Given the description of an element on the screen output the (x, y) to click on. 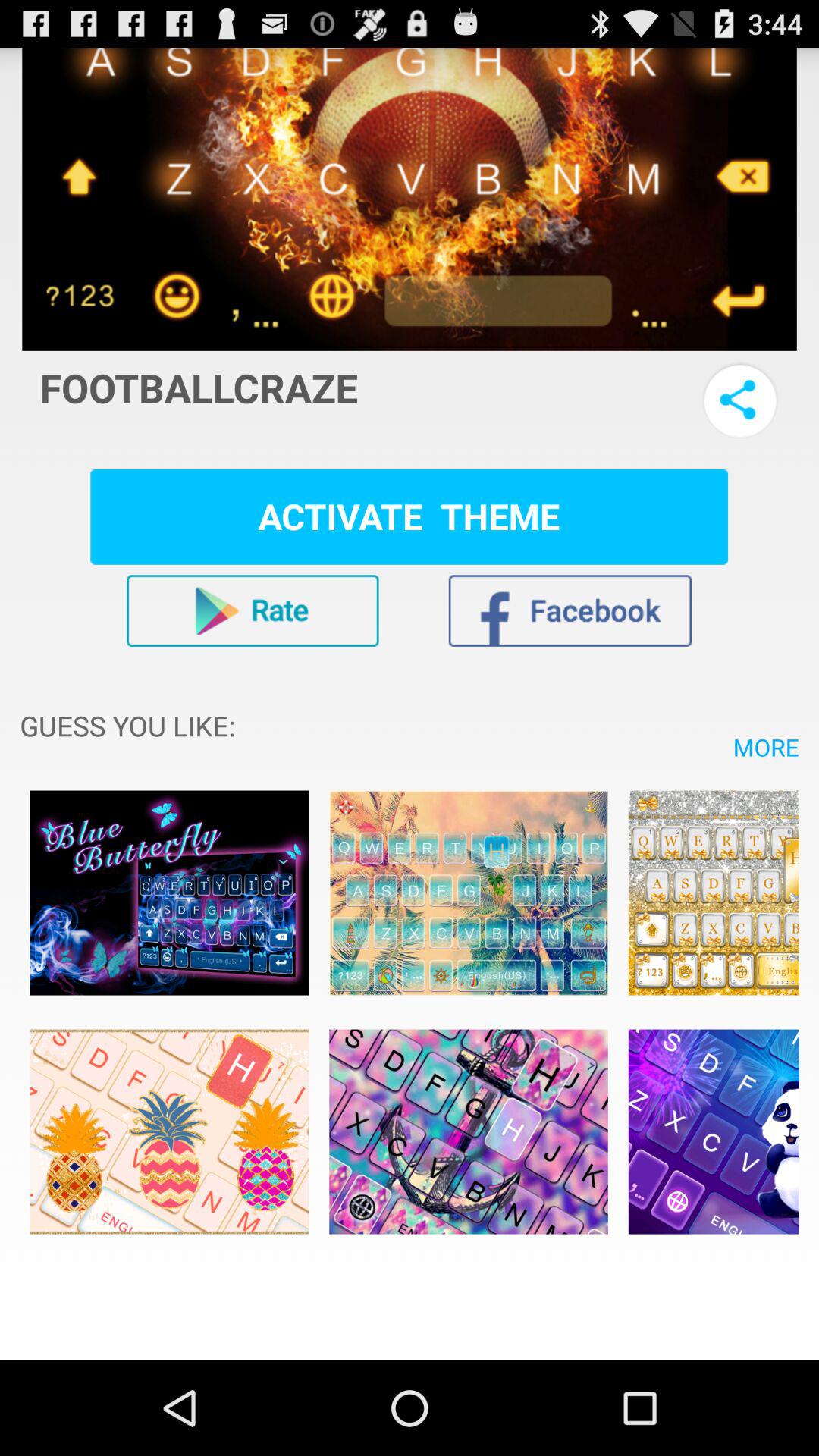
select theme (169, 1131)
